Given the description of an element on the screen output the (x, y) to click on. 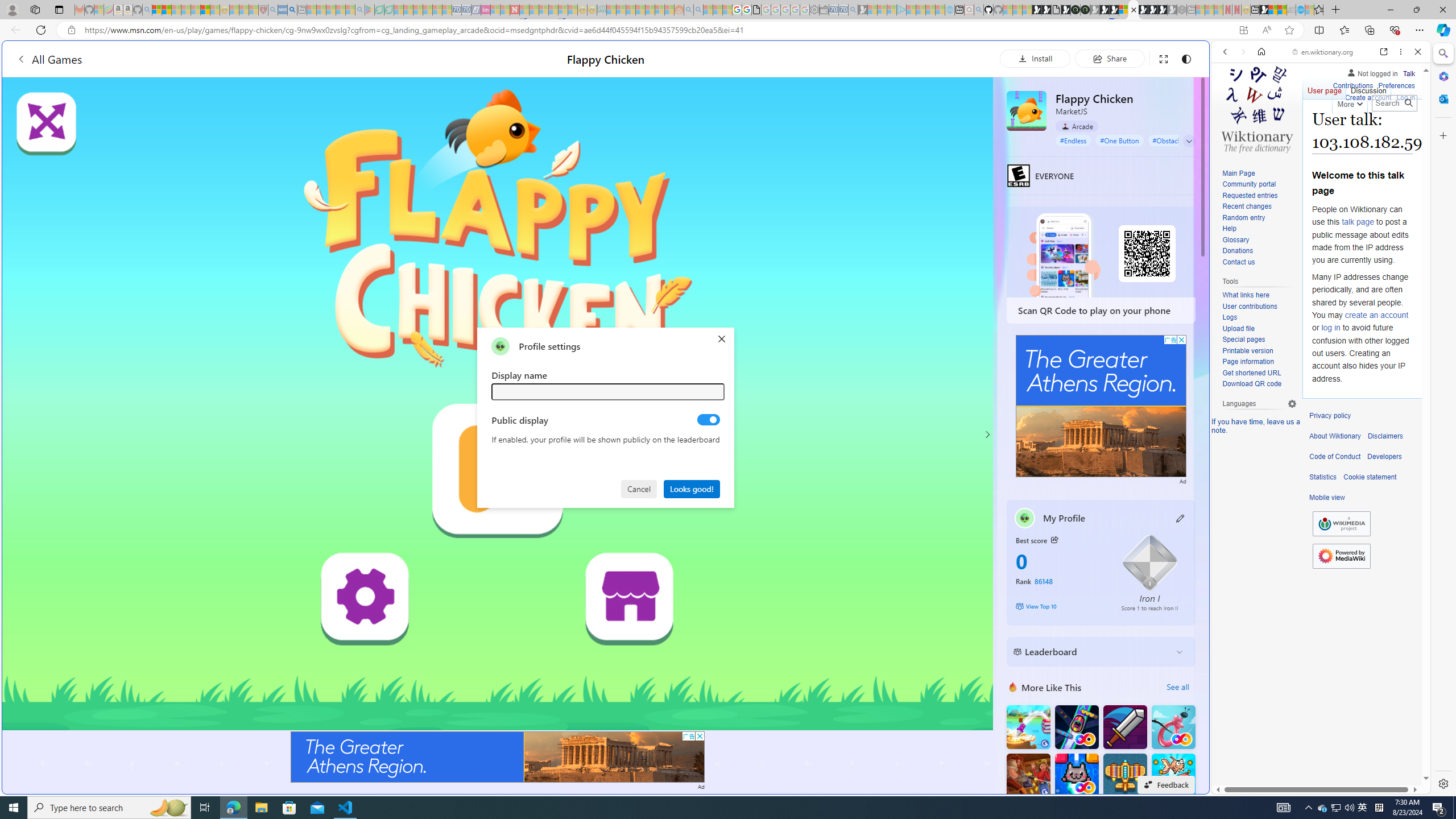
This site scope (1259, 102)
What links here (1259, 295)
Search Filter, IMAGES (1262, 129)
Logs (1259, 317)
Language settings (1292, 403)
Get shortened URL (1259, 373)
